Given the description of an element on the screen output the (x, y) to click on. 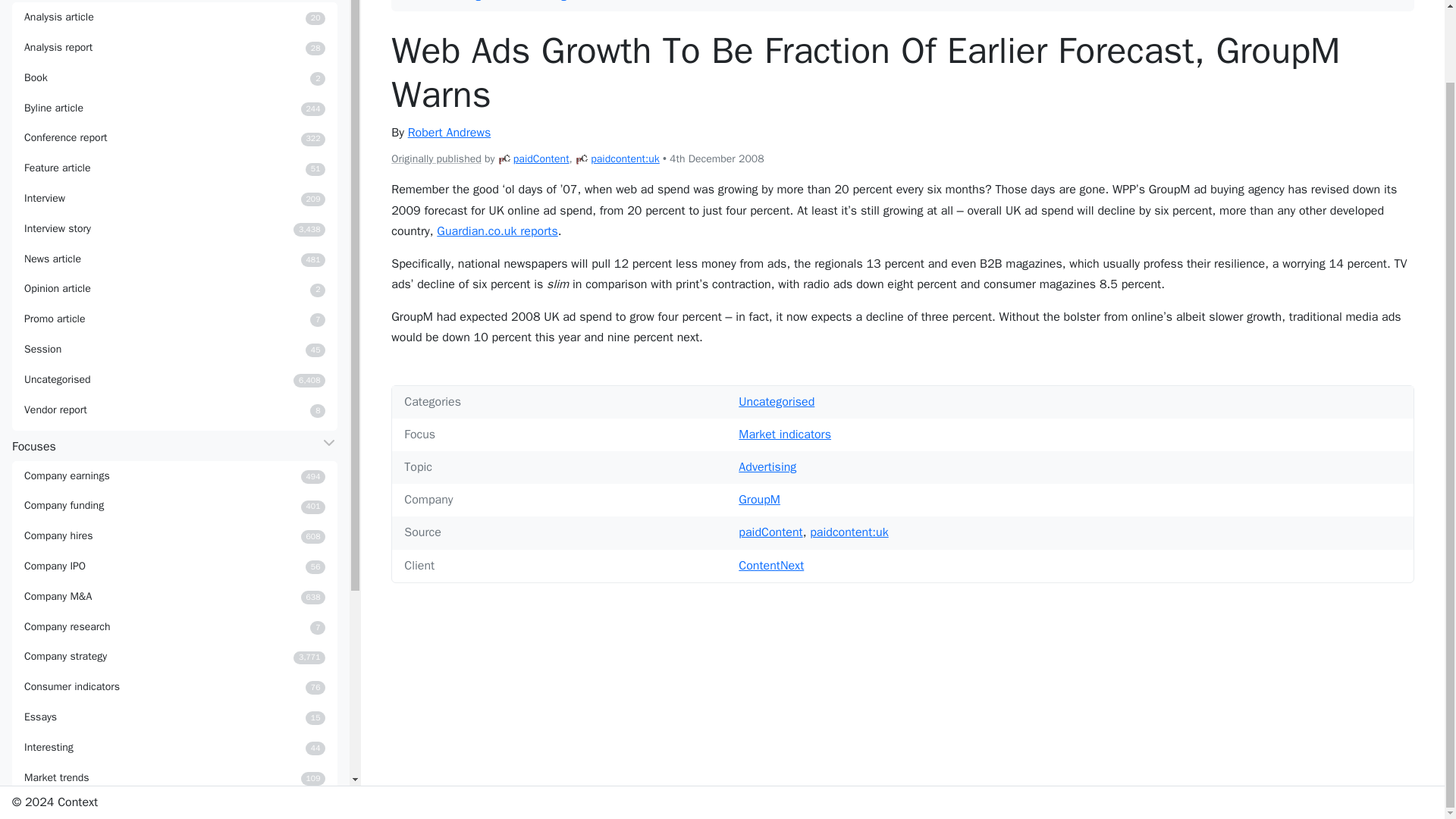
Posts by Robert Andrews (174, 318)
Focuses (174, 198)
View all posts in paidcontent:uk (174, 535)
